Given the description of an element on the screen output the (x, y) to click on. 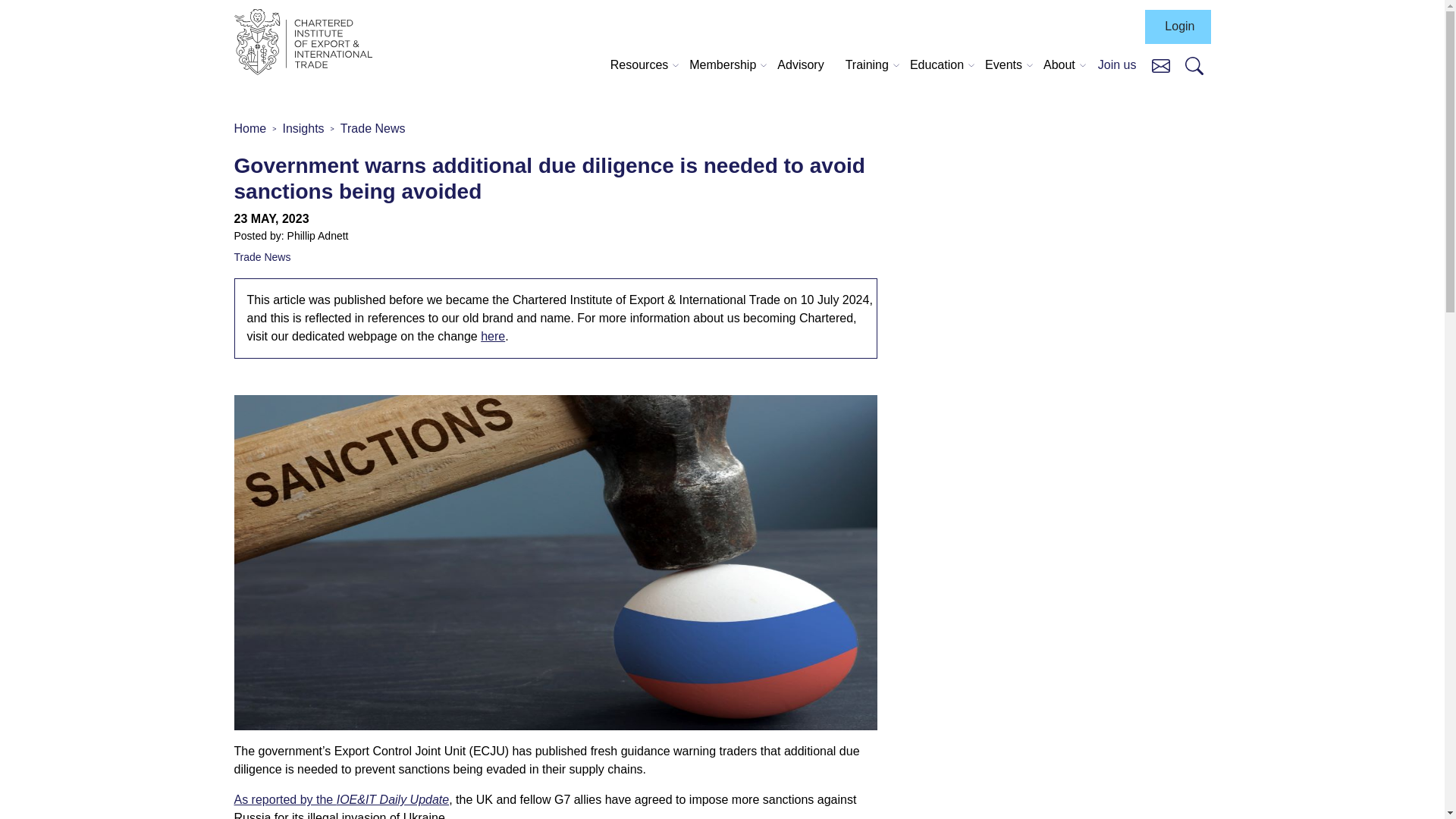
Membership (721, 65)
About (1059, 65)
Resources (638, 65)
Login (1176, 26)
Events (1002, 65)
Advisory (800, 65)
Training (867, 65)
Search (1193, 65)
Education (936, 65)
Contact us (1160, 64)
